Given the description of an element on the screen output the (x, y) to click on. 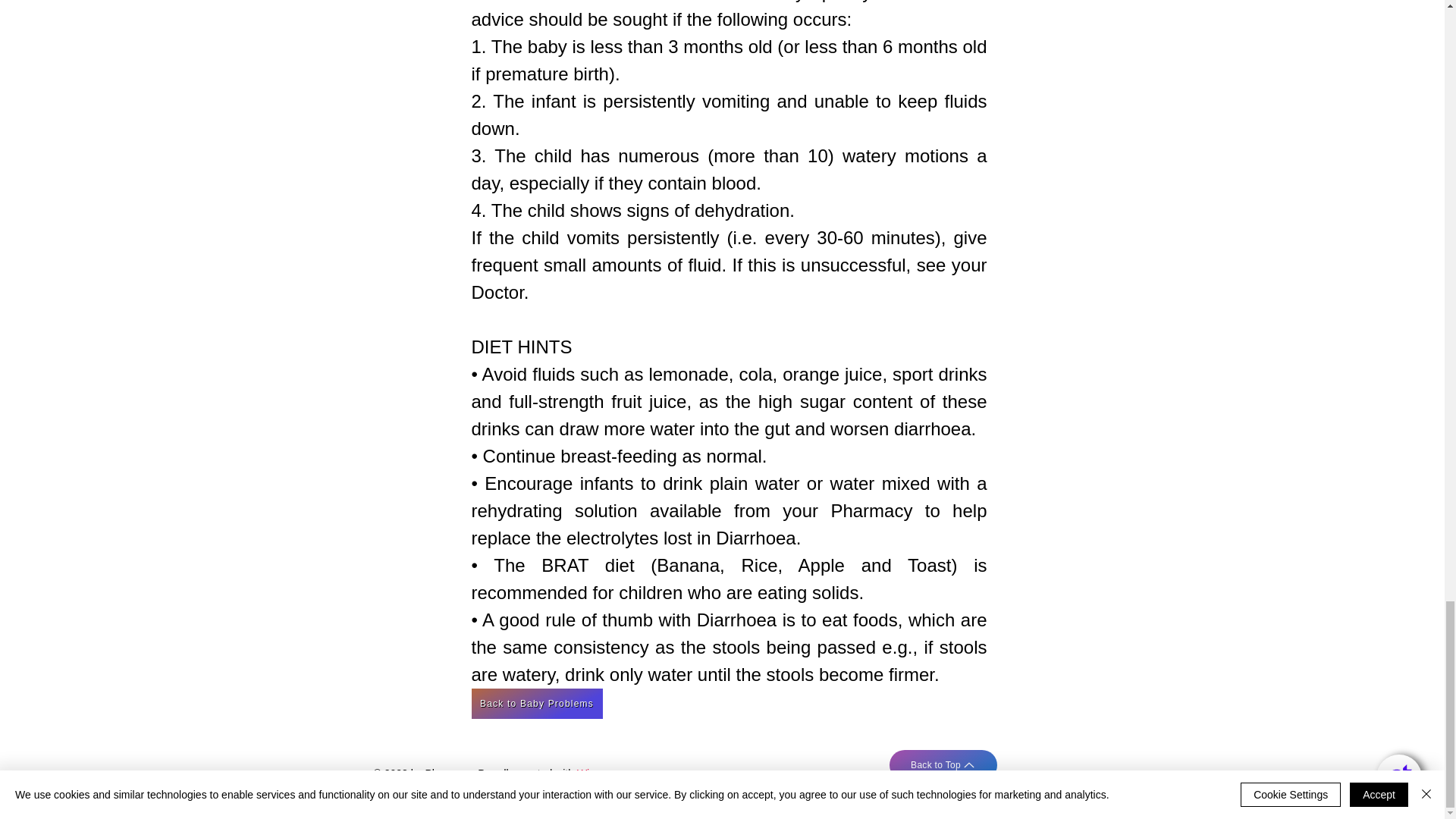
Back to Top (941, 765)
Back to Baby Problems (536, 703)
Wix.com (596, 773)
